Given the description of an element on the screen output the (x, y) to click on. 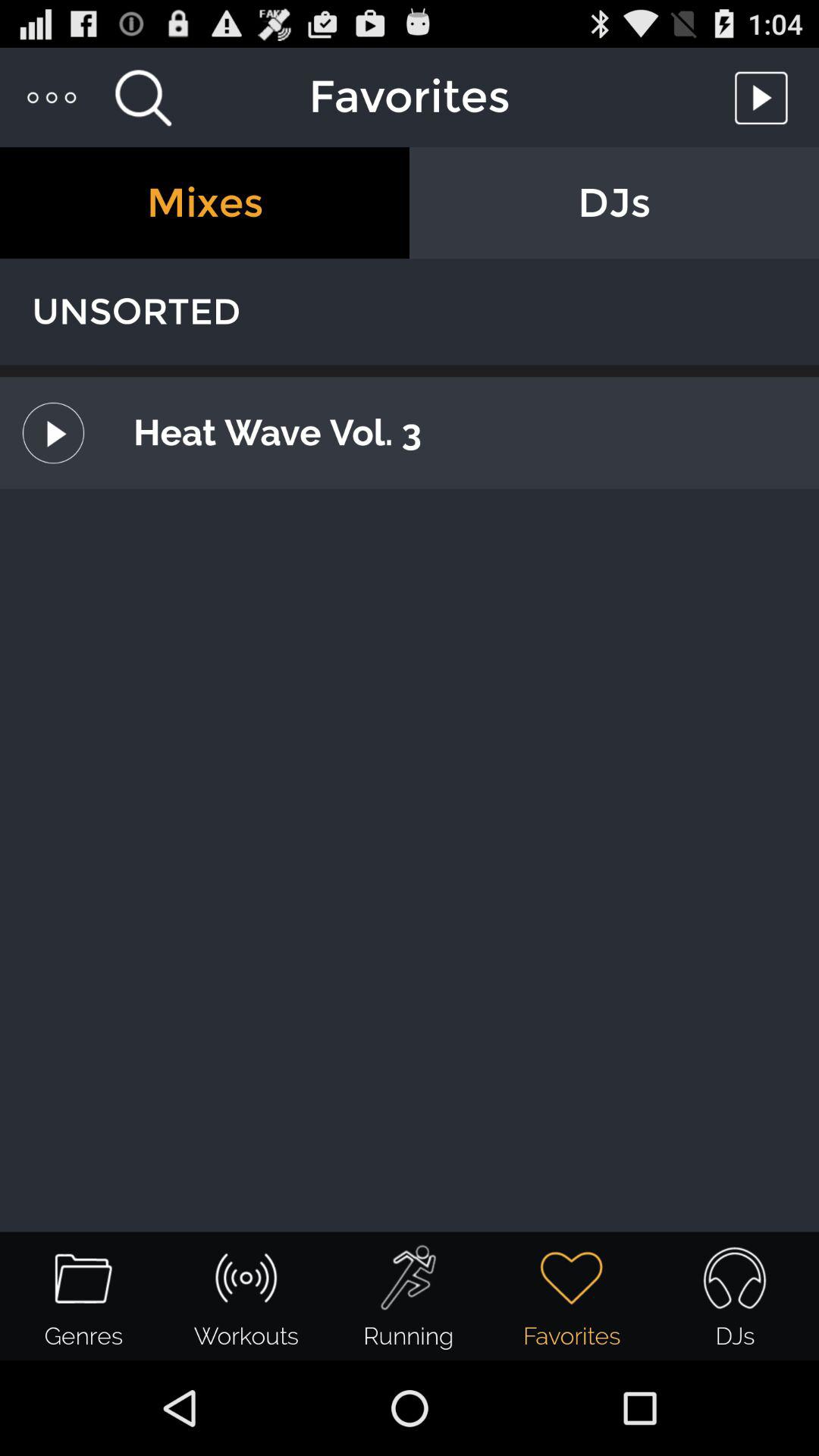
click on djs (614, 203)
click on search icon (143, 96)
click on play icon (765, 96)
click on folders icon above genres (83, 1277)
click the headset icon from the bottom (734, 1277)
select the option favorites positioned left to djs (571, 1296)
